Given the description of an element on the screen output the (x, y) to click on. 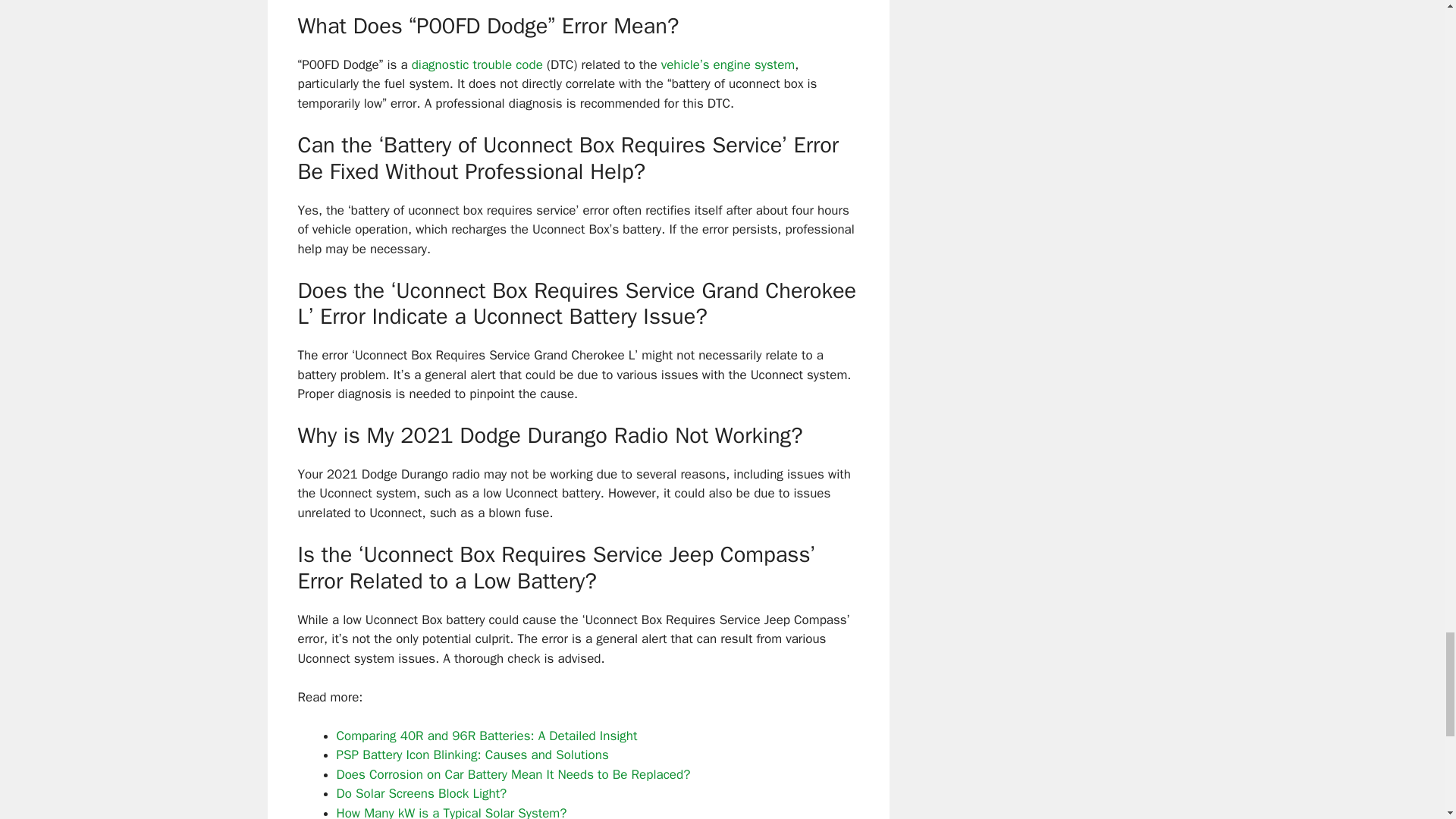
Does Corrosion on Car Battery Mean It Needs to Be Replaced? (513, 774)
Do Solar Screens Block Light? (421, 793)
PSP Battery Icon Blinking: Causes and Solutions (472, 754)
diagnostic trouble code (477, 64)
How Many kW is a Typical Solar System? (451, 812)
Comparing 40R and 96R Batteries: A Detailed Insight (486, 735)
